Given the description of an element on the screen output the (x, y) to click on. 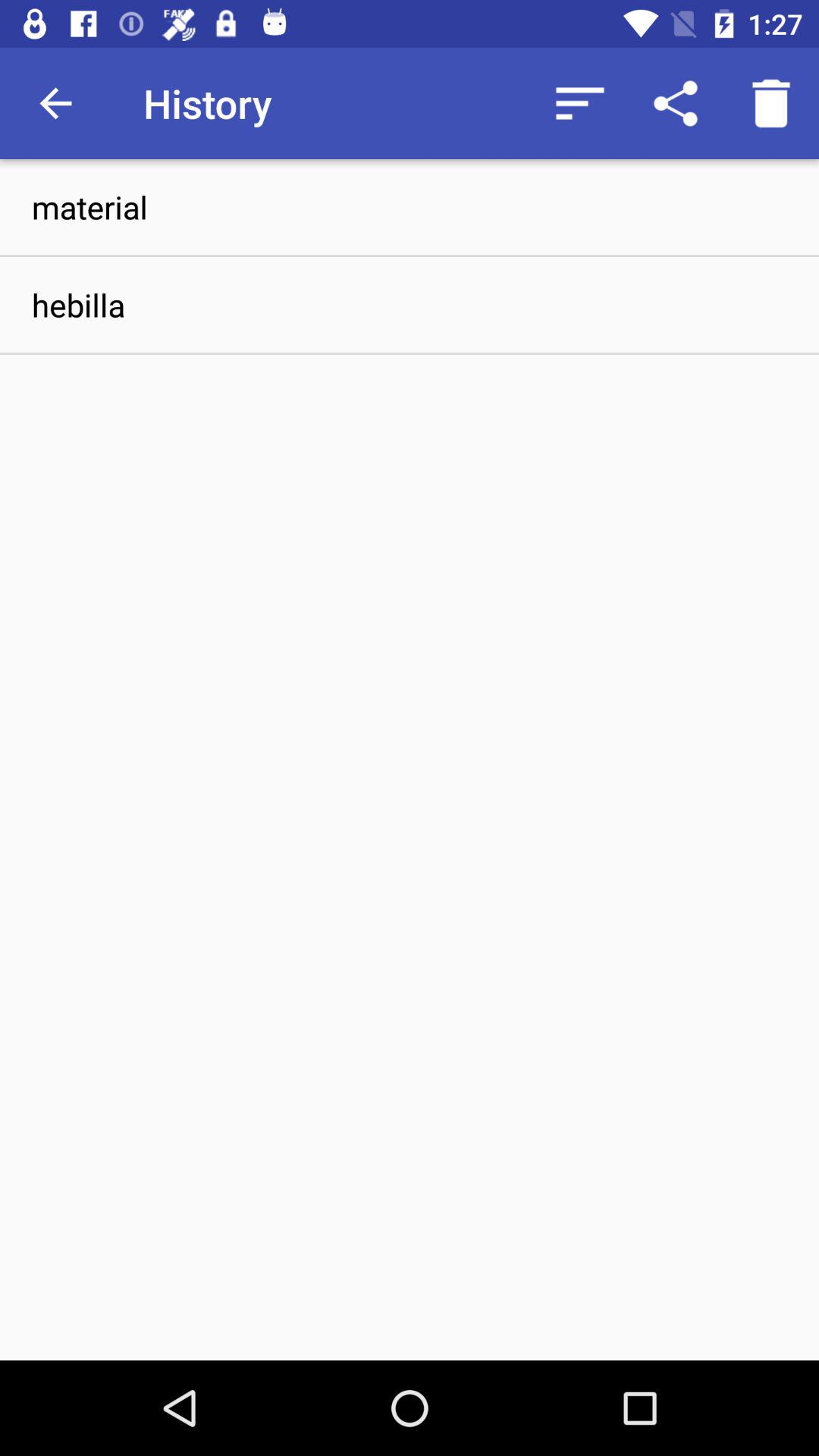
turn on the icon next to the history icon (55, 103)
